Given the description of an element on the screen output the (x, y) to click on. 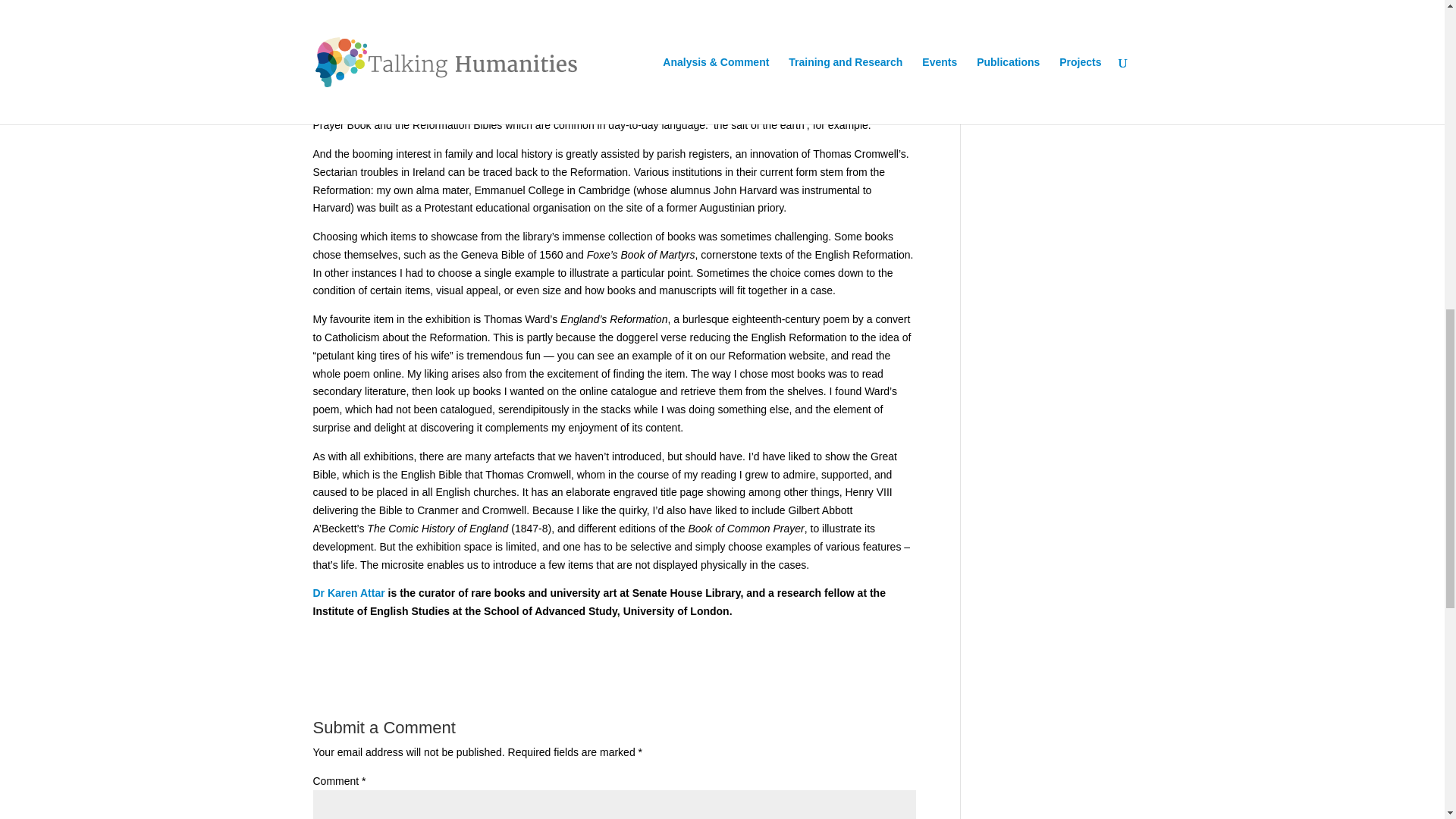
Dr Karen Attar (348, 592)
